Given the description of an element on the screen output the (x, y) to click on. 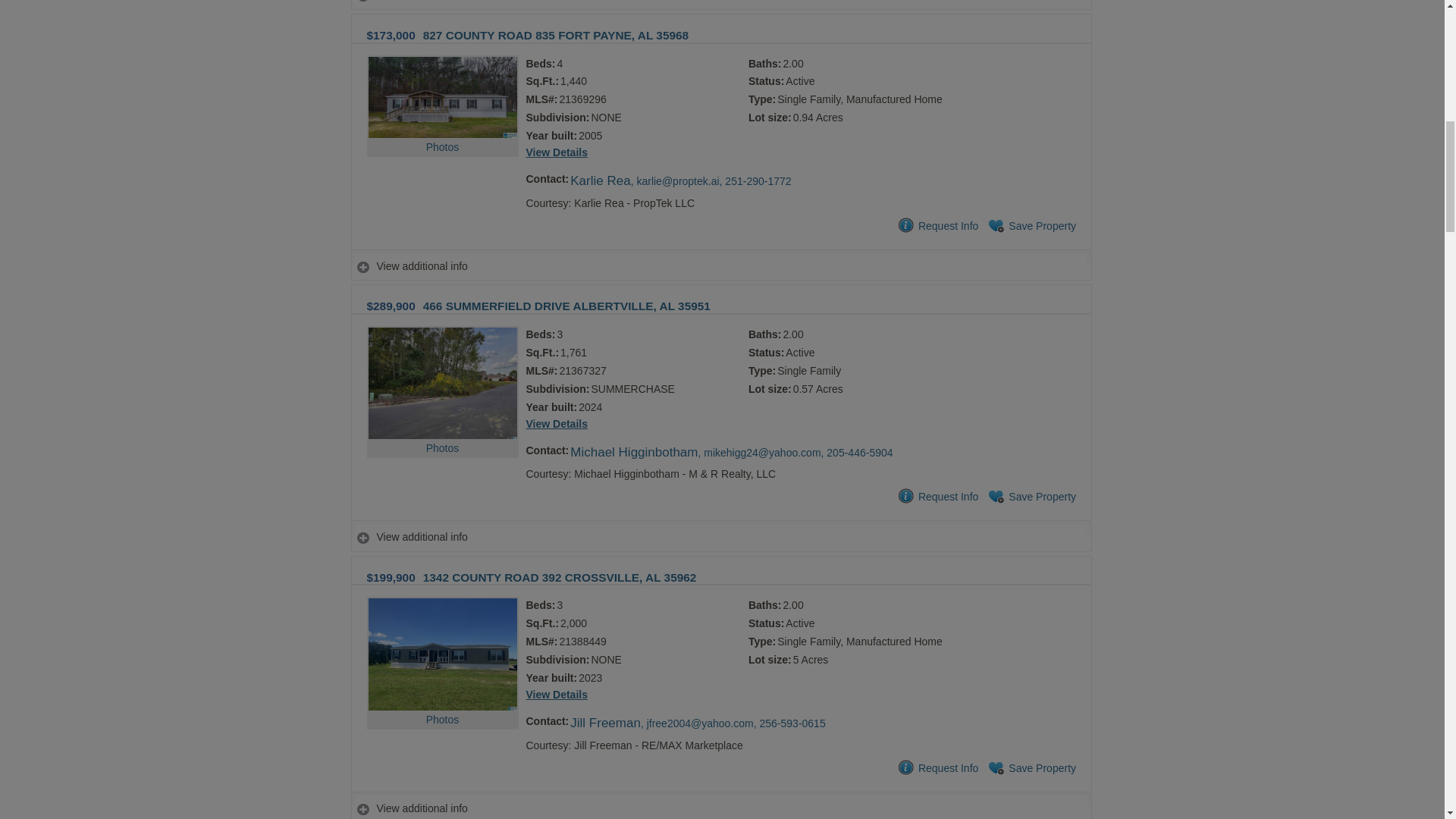
View Details (556, 152)
Request Info (936, 226)
View property remarks and map (720, 536)
Photos (442, 121)
827 COUNTY ROAD 835 FORT PAYNE, AL 35968 (555, 34)
View property remarks and map (720, 266)
View property remarks and map (720, 808)
